Given the description of an element on the screen output the (x, y) to click on. 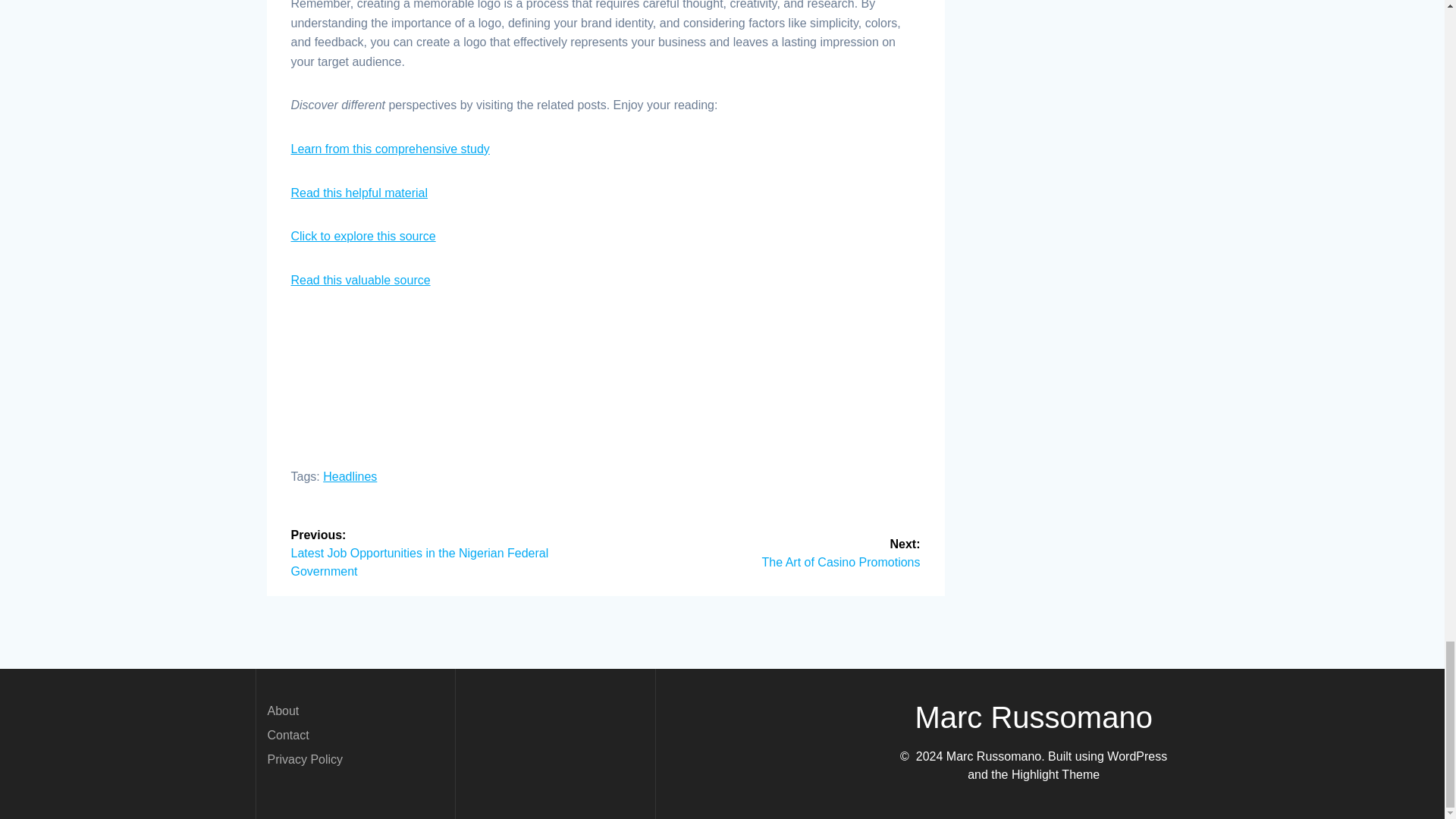
Read this valuable source (360, 279)
About (282, 710)
Learn from this comprehensive study (768, 551)
Contact (390, 148)
Read this helpful material (287, 735)
Headlines (359, 192)
Click to explore this source (350, 476)
